Given the description of an element on the screen output the (x, y) to click on. 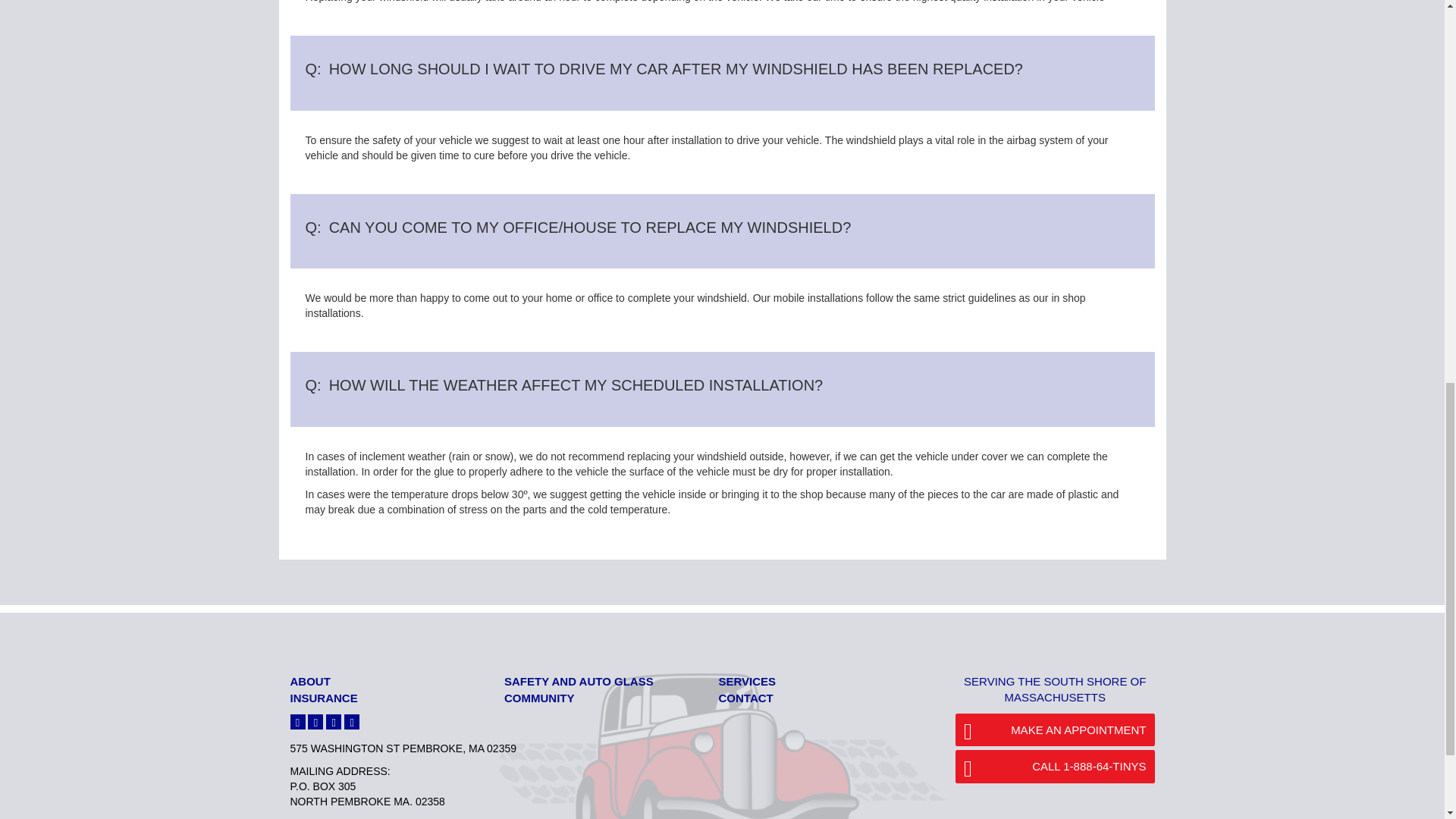
SAFETY AND AUTO GLASS (578, 680)
CALL 1-888-64-TINYS (1054, 766)
SERVICES (747, 680)
MAKE AN APPOINTMENT (1054, 729)
ABOUT (309, 680)
